Given the description of an element on the screen output the (x, y) to click on. 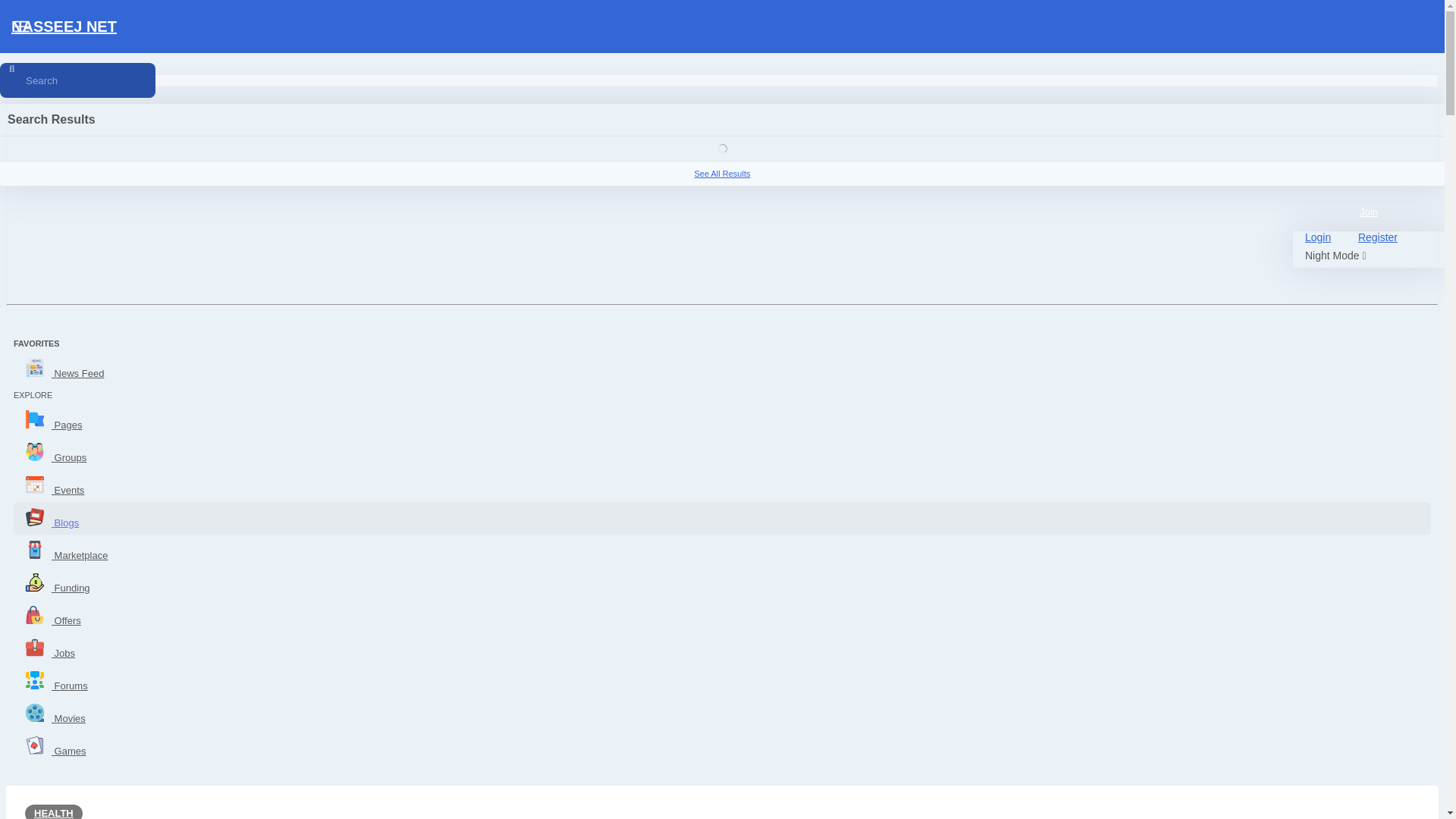
Register (1377, 237)
Pages (722, 420)
Jobs (722, 648)
Groups (722, 452)
Movies (722, 713)
Funding (722, 583)
Login (1317, 237)
Blogs (722, 518)
Events (722, 485)
Games (722, 746)
